Given the description of an element on the screen output the (x, y) to click on. 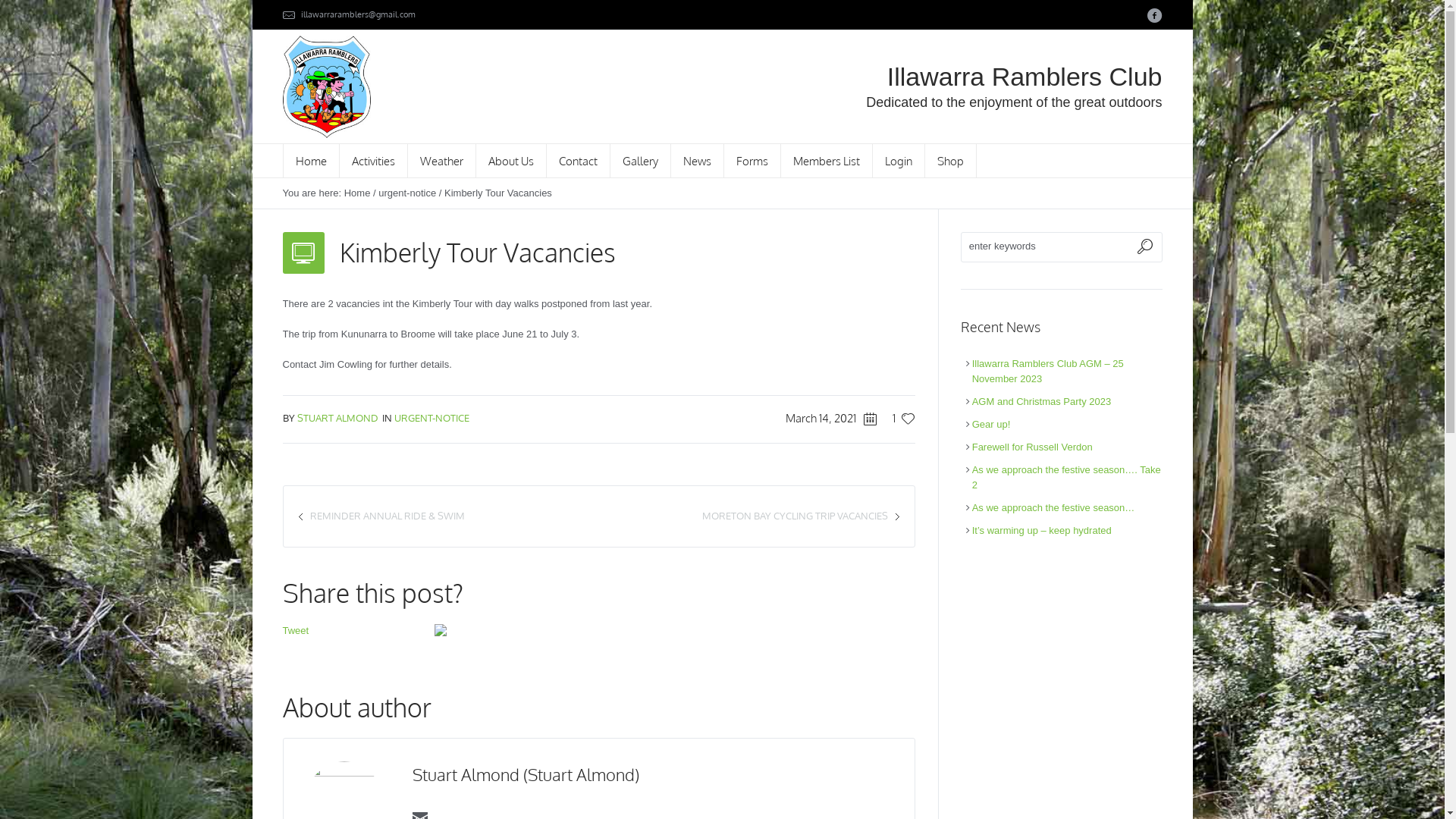
Facebook Element type: hover (1153, 14)
illawarraramblers@gmail.com Element type: text (357, 14)
Gallery Element type: text (639, 161)
Activities Element type: text (373, 161)
1 Element type: text (896, 418)
News Element type: text (696, 161)
Tweet Element type: text (295, 630)
Members List Element type: text (826, 161)
Home Element type: text (310, 161)
Login Element type: text (898, 161)
AGM and Christmas Party 2023 Element type: text (1041, 401)
REMINDER ANNUAL RIDE & SWIM Element type: text (386, 515)
Contact Element type: text (577, 161)
Pin It Element type: hover (439, 631)
Farewell for Russell Verdon Element type: text (1032, 446)
urgent-notice Element type: text (407, 192)
Shop Element type: text (950, 161)
Gear up! Element type: text (991, 423)
Forms Element type: text (751, 161)
MORETON BAY CYCLING TRIP VACANCIES Element type: text (795, 515)
Home Element type: text (357, 192)
About Us Element type: text (511, 161)
URGENT-NOTICE Element type: text (431, 417)
STUART ALMOND Element type: text (337, 417)
Weather Element type: text (441, 161)
